Given the description of an element on the screen output the (x, y) to click on. 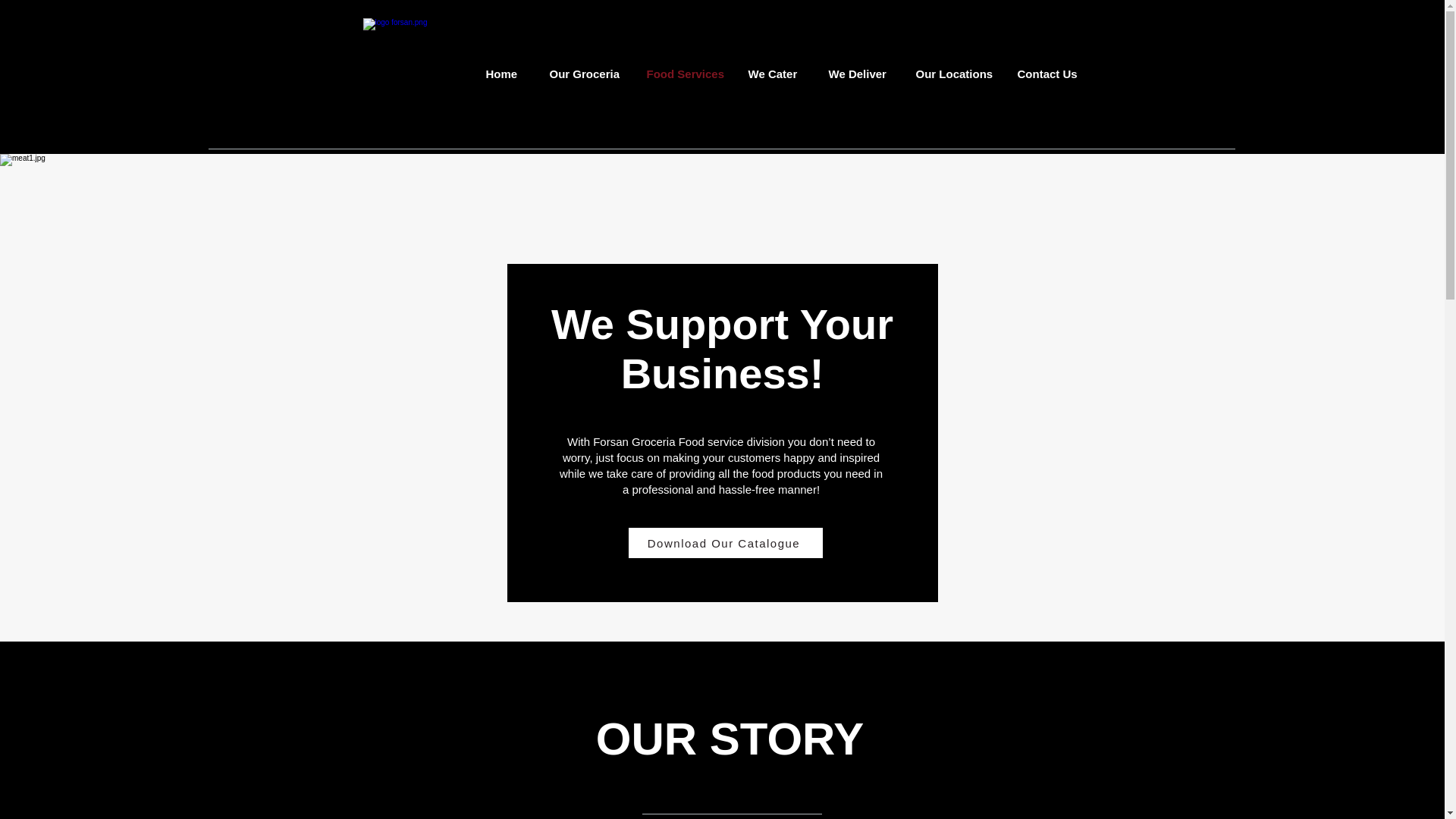
Our Groceria (586, 73)
We Deliver (860, 73)
Contact Us (1049, 73)
Home (506, 73)
Food Services (685, 73)
Download Our Catalogue (724, 542)
Our Locations (955, 73)
We Cater (776, 73)
